Given the description of an element on the screen output the (x, y) to click on. 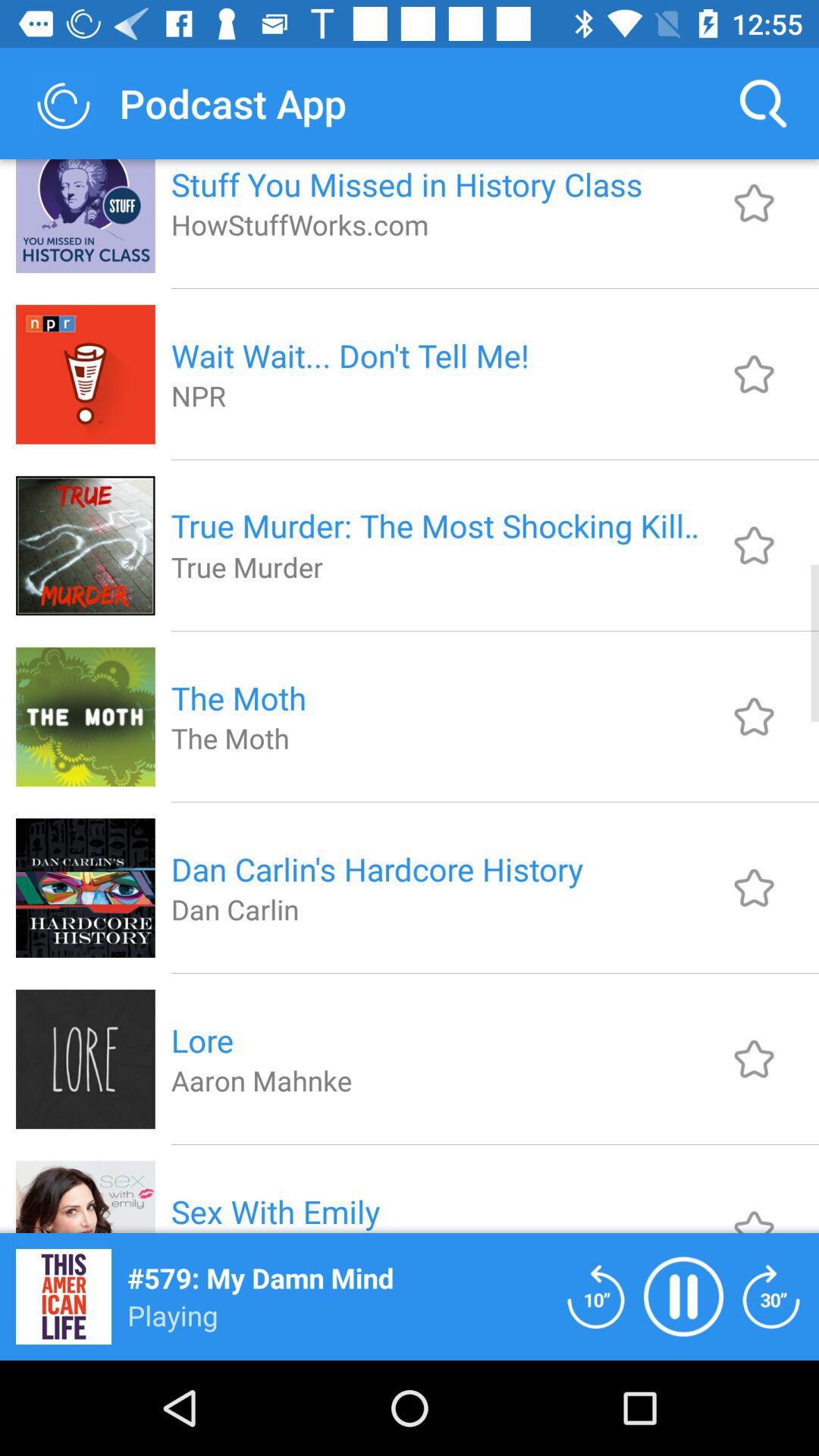
go back 10 seconds (595, 1296)
